Given the description of an element on the screen output the (x, y) to click on. 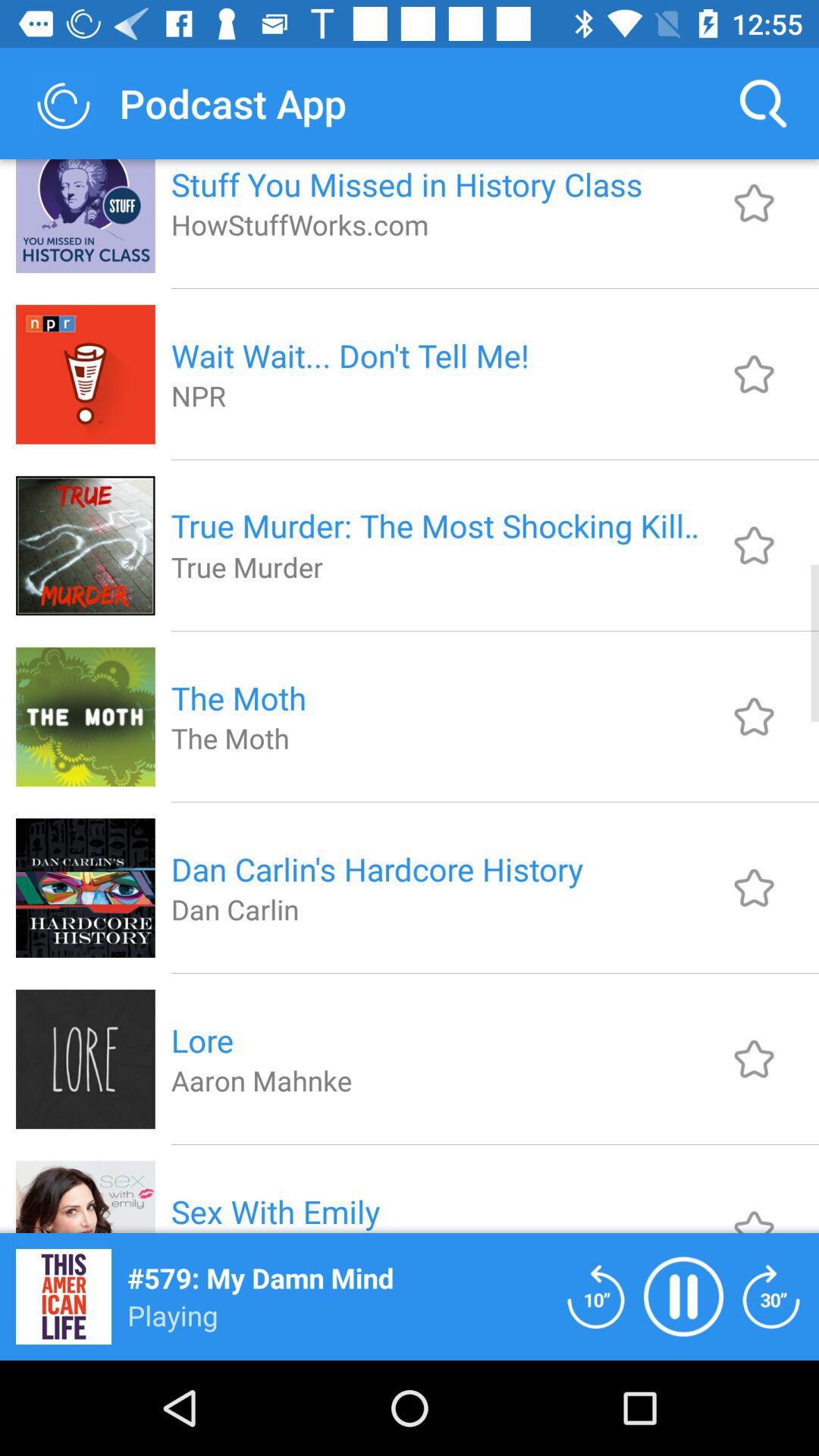
go back 10 seconds (595, 1296)
